Given the description of an element on the screen output the (x, y) to click on. 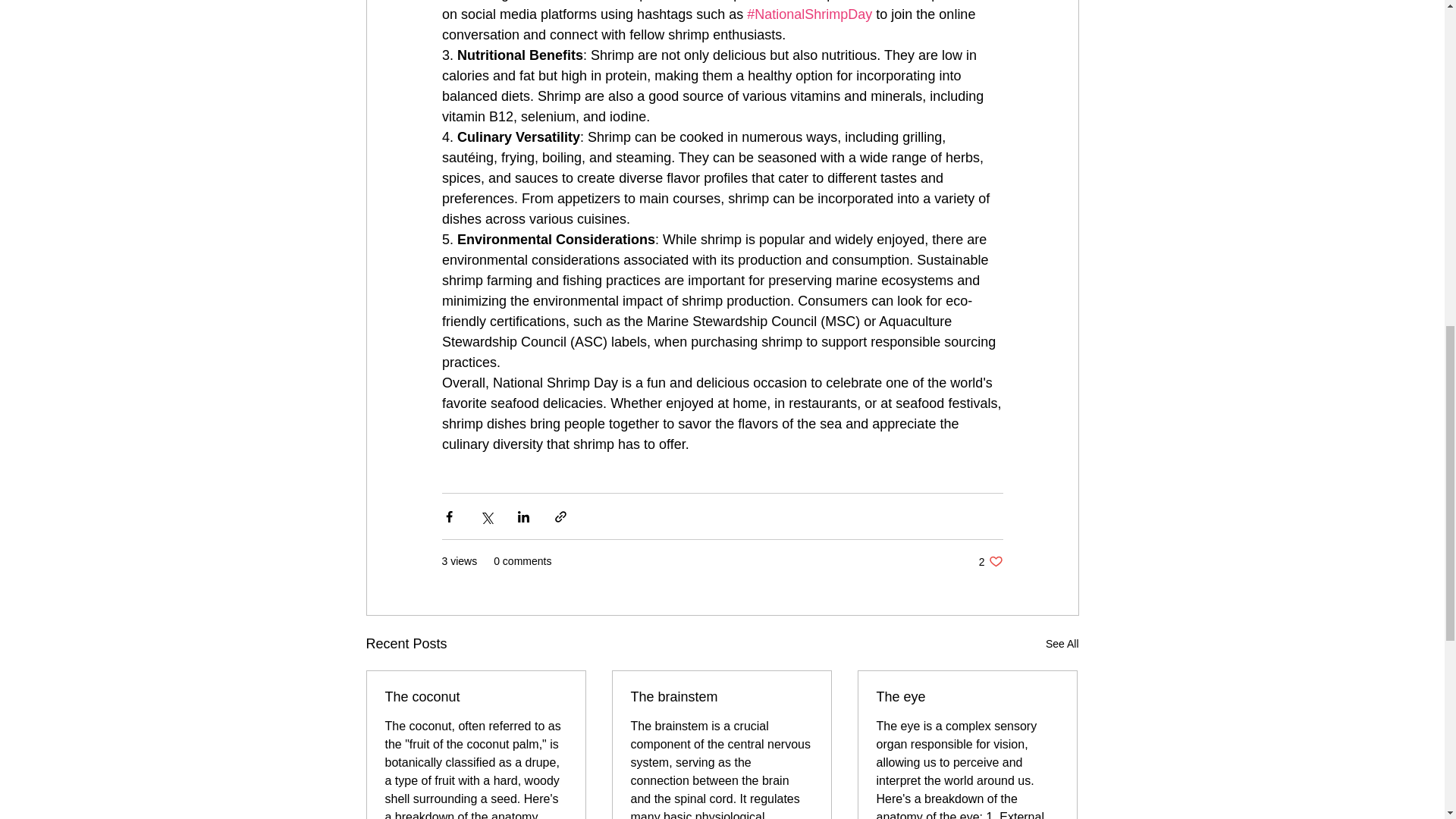
The coconut (476, 697)
The brainstem (990, 561)
See All (721, 697)
The eye (1061, 644)
